Given the description of an element on the screen output the (x, y) to click on. 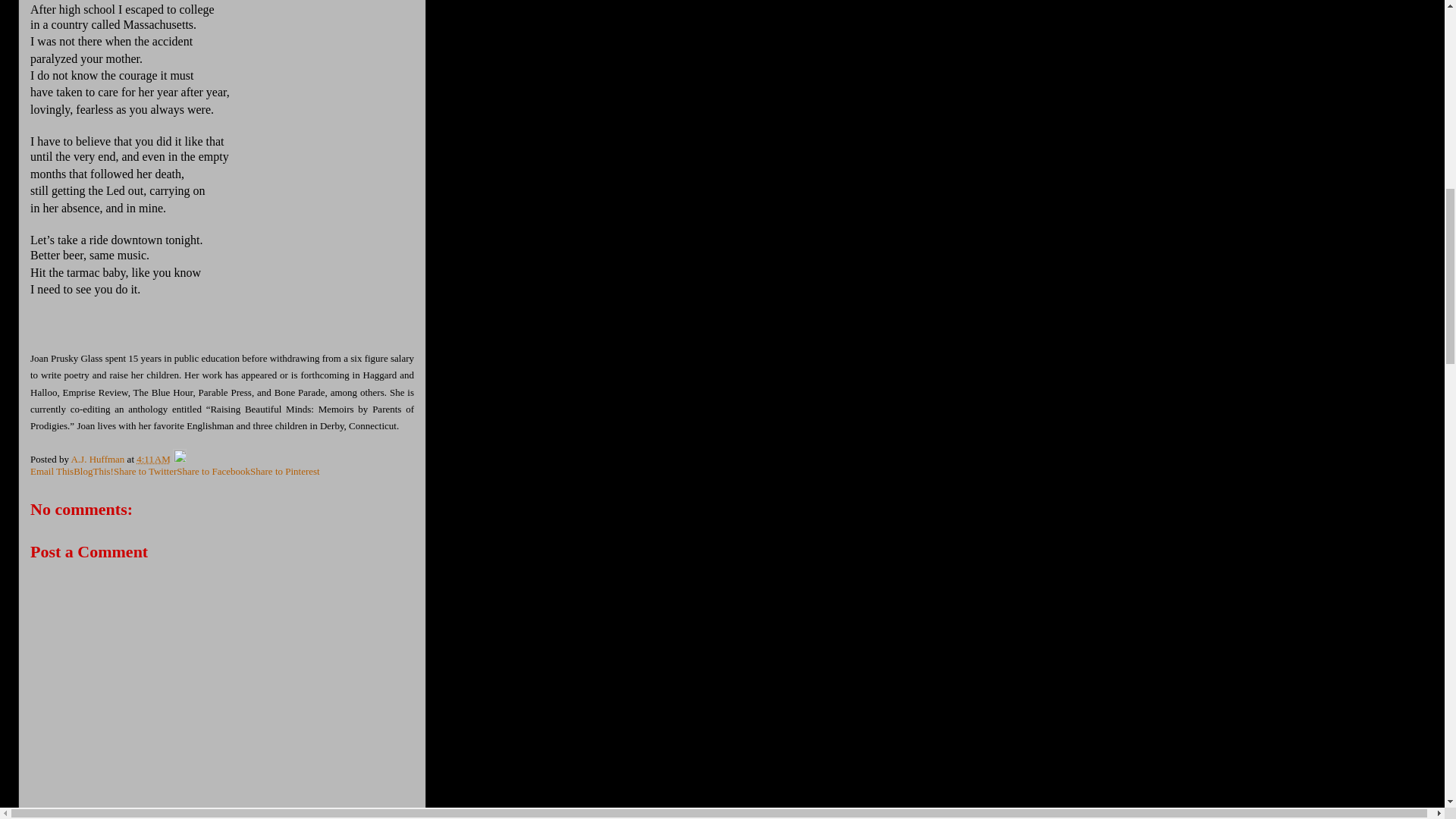
Edit Post (179, 459)
Share to Twitter (144, 471)
author profile (97, 459)
BlogThis! (93, 471)
permanent link (153, 459)
Email This (52, 471)
Share to Pinterest (285, 471)
A.J. Huffman (97, 459)
Share to Facebook (213, 471)
Email This (52, 471)
Share to Pinterest (285, 471)
Share to Facebook (213, 471)
Share to Twitter (144, 471)
BlogThis! (93, 471)
